Given the description of an element on the screen output the (x, y) to click on. 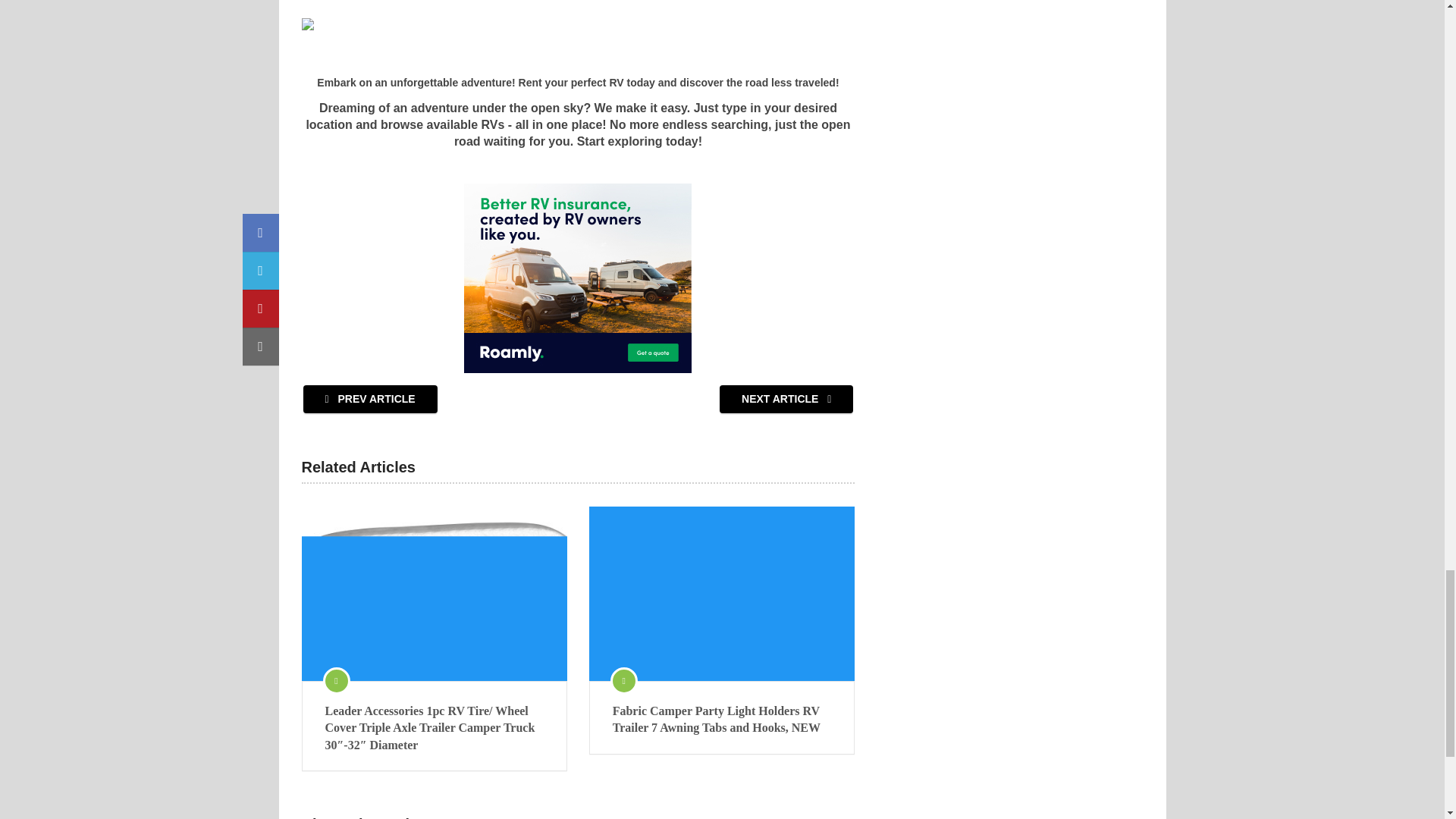
NEXT ARTICLE (786, 398)
PREV ARTICLE (370, 398)
